Given the description of an element on the screen output the (x, y) to click on. 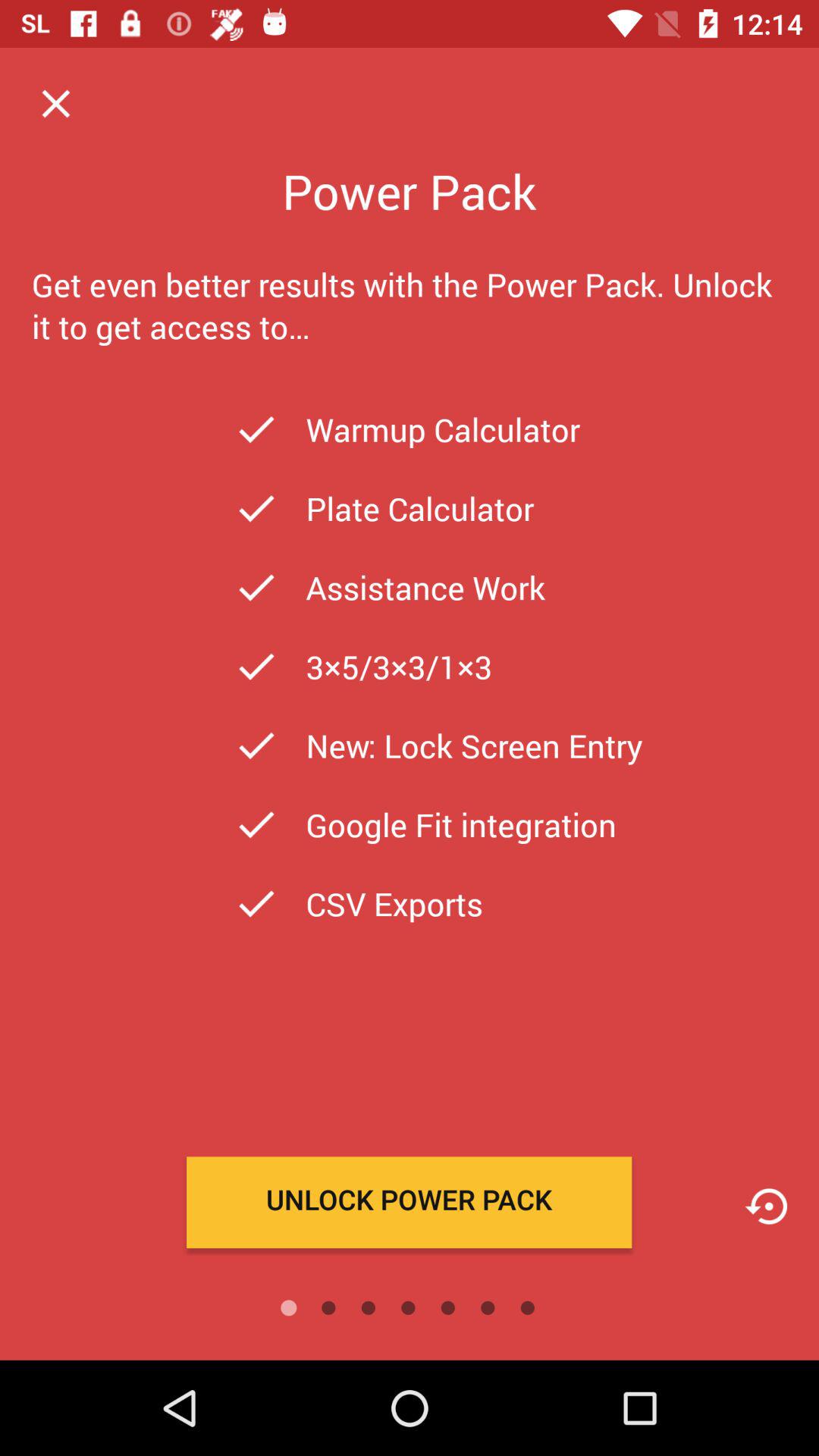
close application (55, 103)
